Given the description of an element on the screen output the (x, y) to click on. 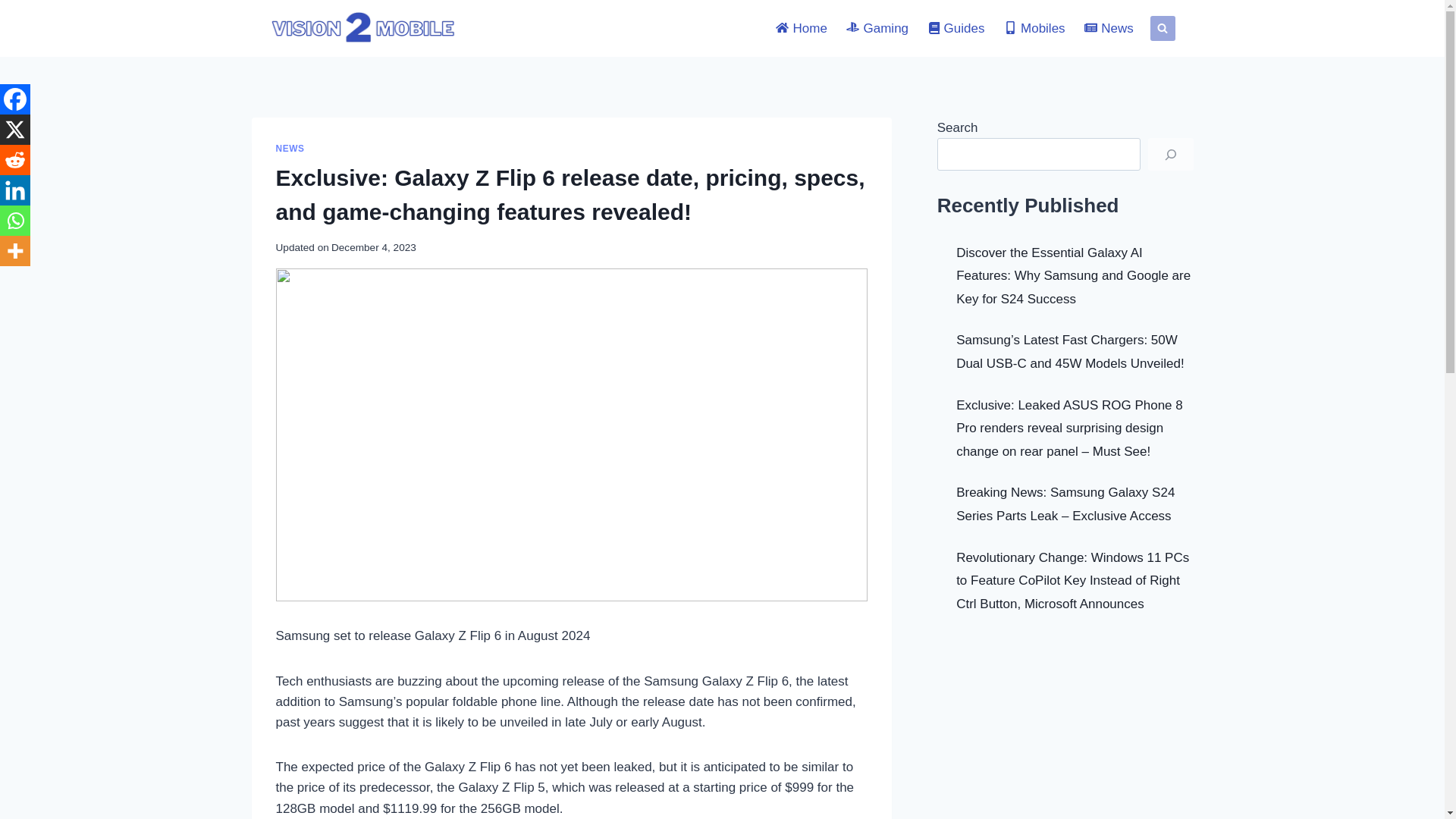
NEWS (290, 148)
Mobiles (1034, 28)
Gaming (877, 28)
News (1108, 28)
X (15, 129)
Reddit (15, 159)
Whatsapp (15, 220)
Facebook (15, 99)
Linkedin (15, 190)
Home (802, 28)
Guides (956, 28)
More (15, 250)
